Given the description of an element on the screen output the (x, y) to click on. 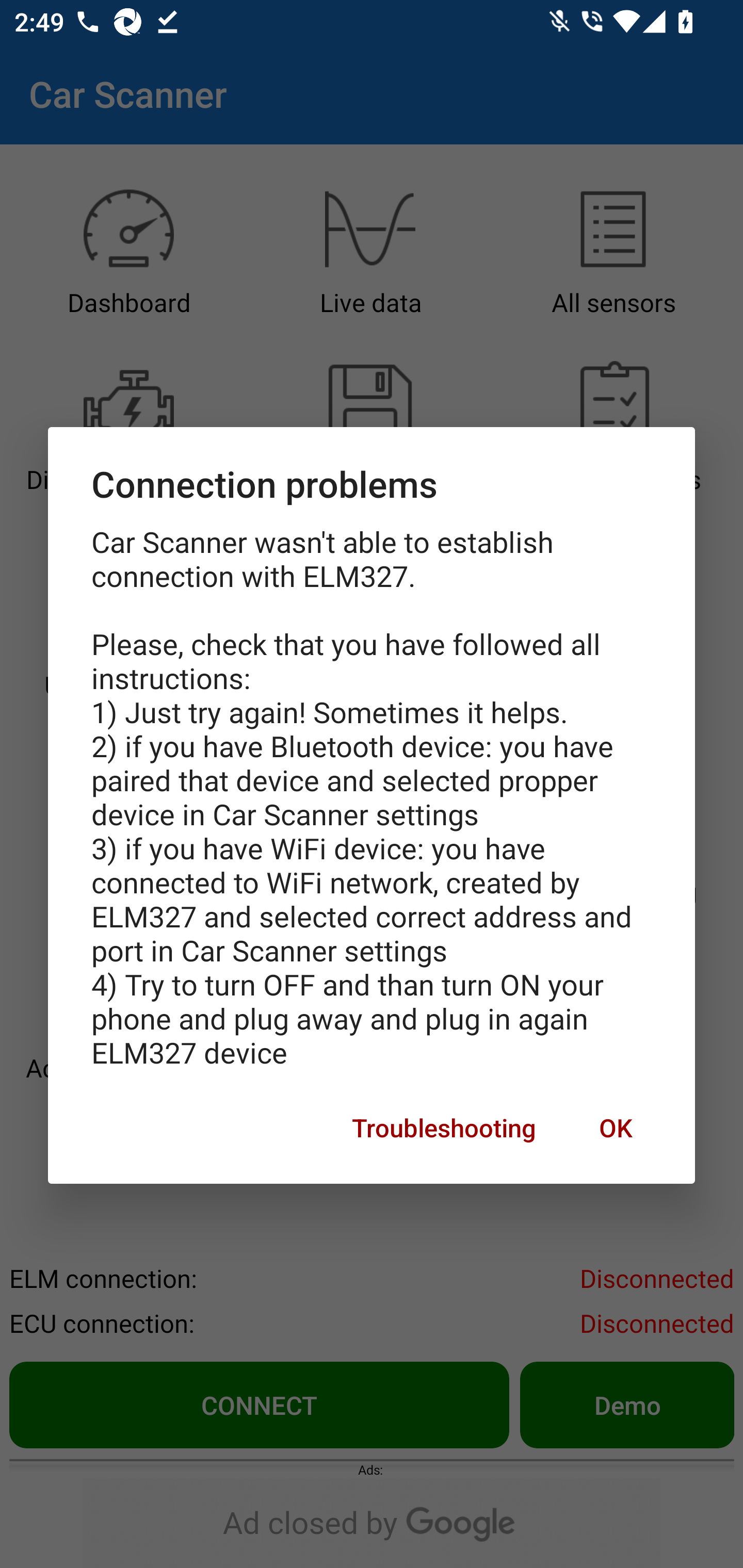
Troubleshooting (443, 1127)
OK (615, 1127)
